Given the description of an element on the screen output the (x, y) to click on. 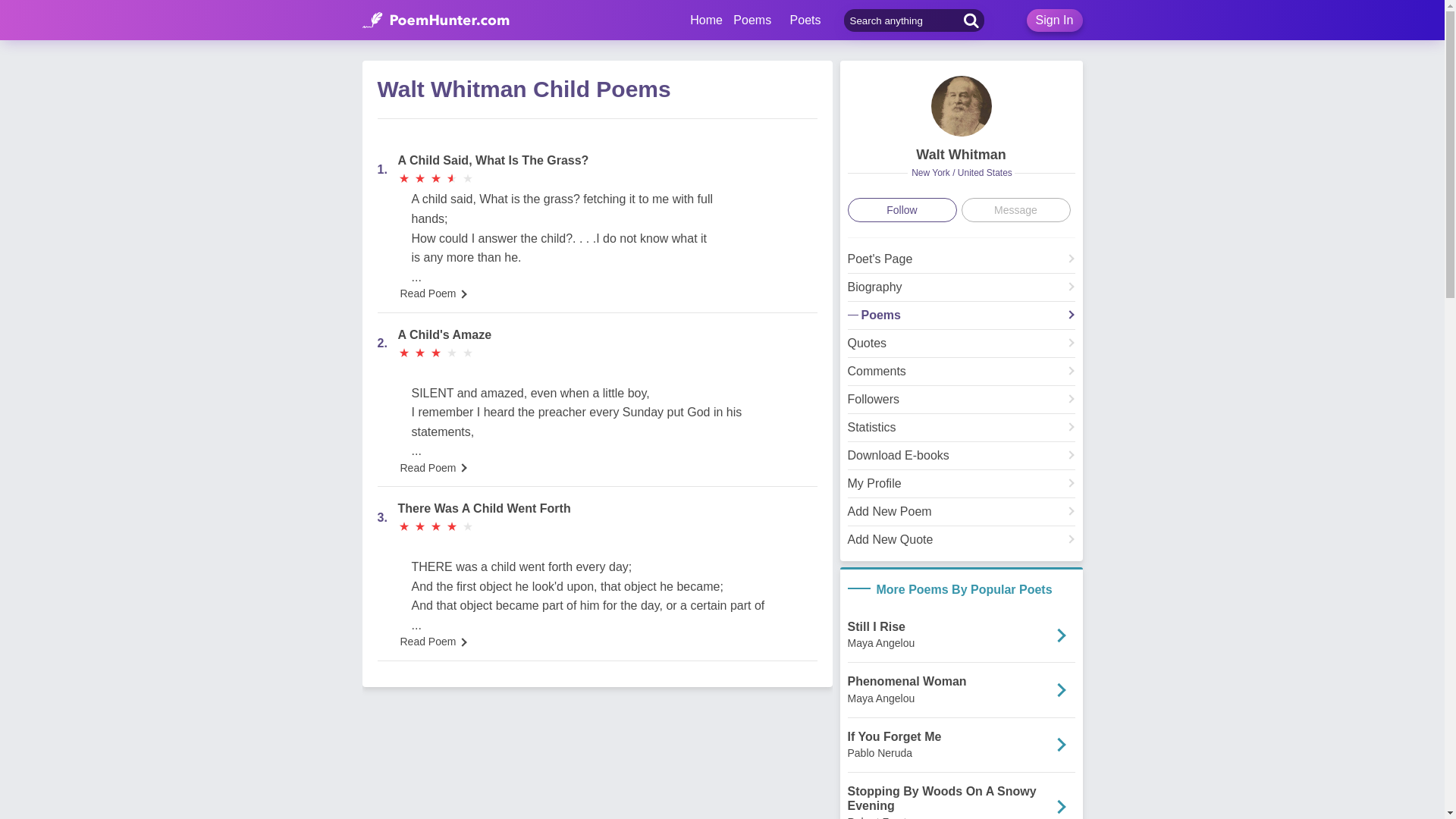
Walt Whitman (960, 154)
Home (706, 19)
Quotes (961, 347)
My Profile (961, 487)
Statistics (961, 431)
Poet's Page (961, 263)
Download E-books (961, 459)
Followers (961, 403)
PoemHunter.com: Poems - Poets - Poetry (435, 20)
Poems (961, 319)
Follow (901, 209)
Biography (961, 291)
Walt Whitman (961, 263)
PoemHunter.com: Poems - Poets - Poetry (706, 19)
Add New Poem (961, 516)
